Given the description of an element on the screen output the (x, y) to click on. 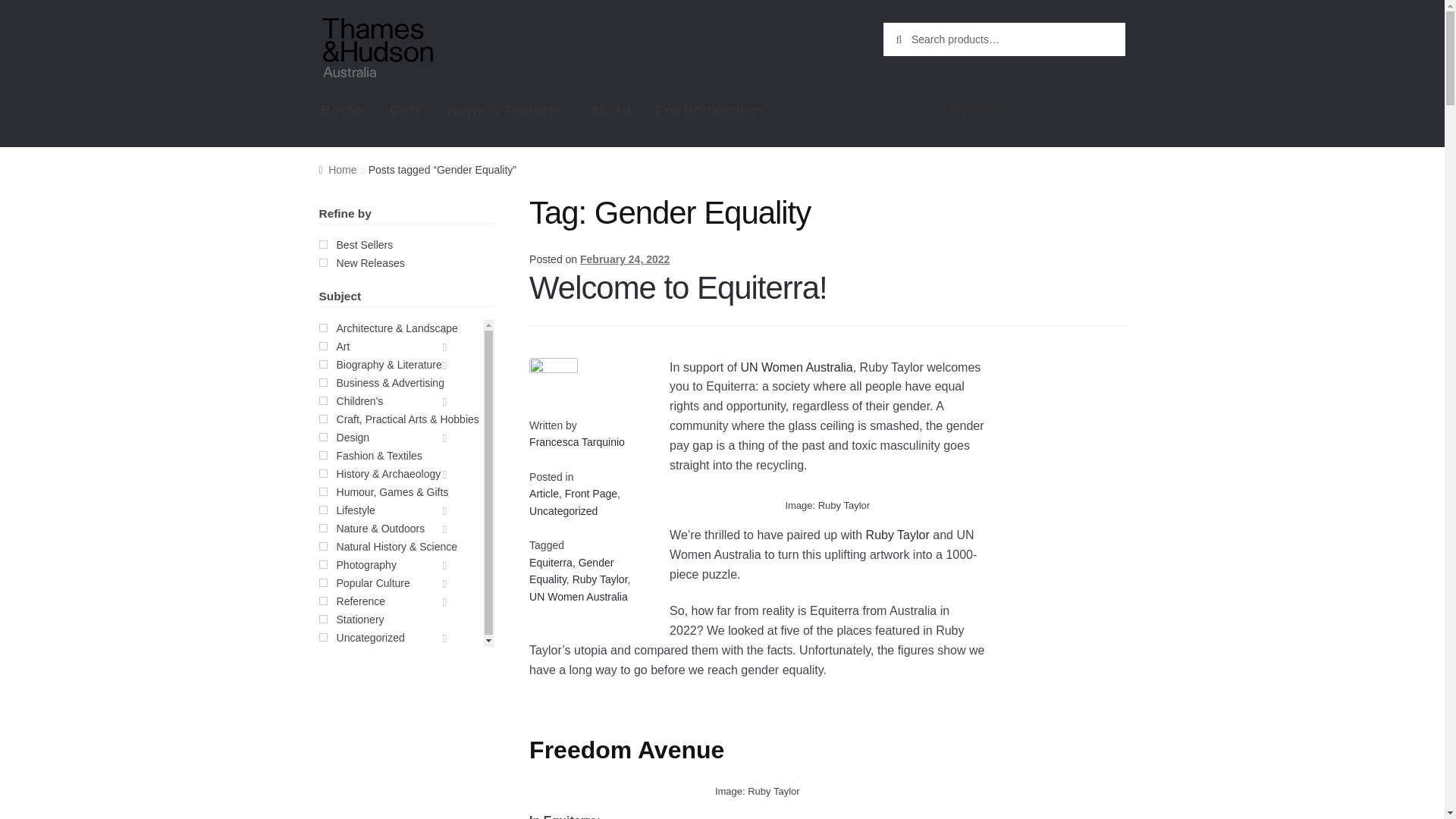
Search (916, 37)
Article (406, 253)
February 24, 2022 (544, 493)
Home (624, 259)
UN Women Australia (337, 169)
For Booksellers (795, 367)
View your shopping cart (710, 109)
Front Page (1037, 116)
Skip to content (590, 493)
About (358, 13)
UN Women Australia (609, 109)
Books (578, 596)
Uncategorized (342, 109)
Ruby Taylor (562, 510)
